Given the description of an element on the screen output the (x, y) to click on. 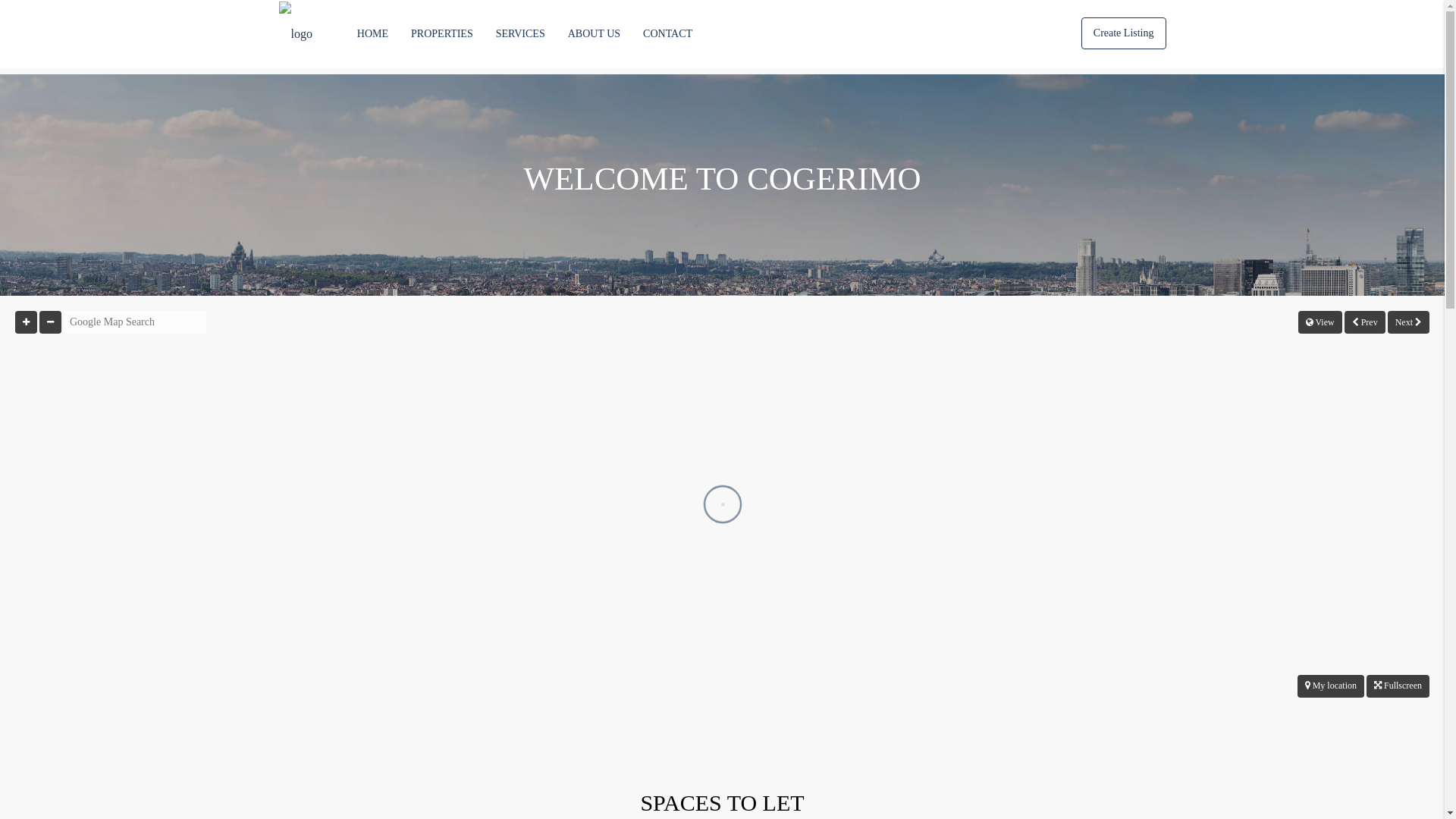
View Element type: text (1320, 321)
HOME Element type: text (372, 34)
Next Element type: text (1408, 321)
Create Listing Element type: text (1123, 33)
SERVICES Element type: text (520, 34)
PROPERTIES Element type: text (441, 34)
Prev Element type: text (1364, 321)
CONTACT Element type: text (667, 34)
ABOUT US Element type: text (593, 34)
